Given the description of an element on the screen output the (x, y) to click on. 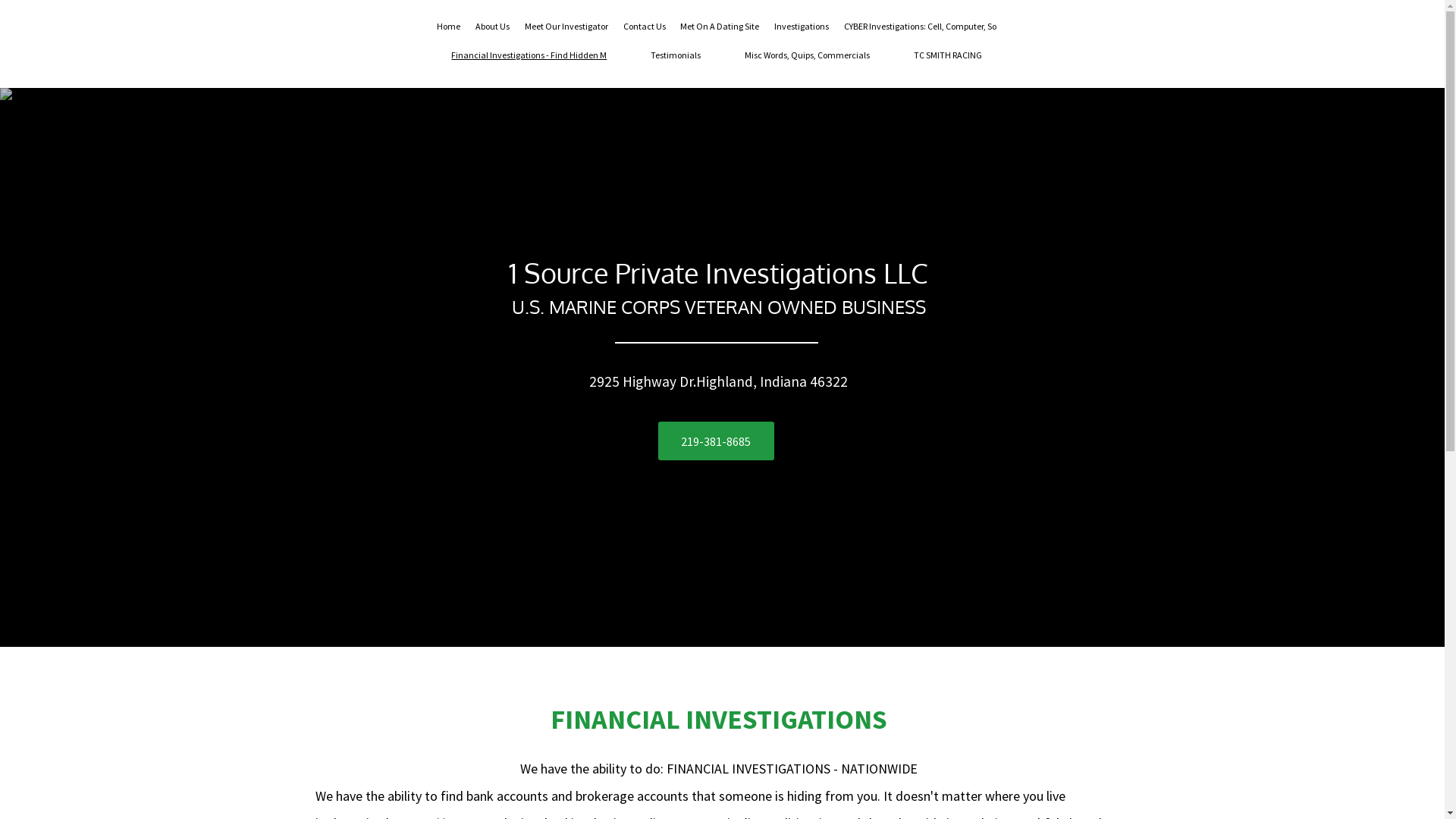
CYBER Investigations: Cell, Computer, So Element type: text (920, 26)
Misc Words, Quips, Commercials Element type: text (806, 54)
TC SMITH RACING Element type: text (947, 54)
Financial Investigations - Find Hidden M Element type: text (528, 54)
About Us Element type: text (492, 26)
Home Element type: text (448, 26)
Testimonials Element type: text (675, 54)
219-381-8685 Element type: text (716, 440)
Meet Our Investigator Element type: text (566, 26)
Contact Us Element type: text (644, 26)
Met On A Dating Site Element type: text (719, 26)
Investigations Element type: text (801, 26)
